Given the description of an element on the screen output the (x, y) to click on. 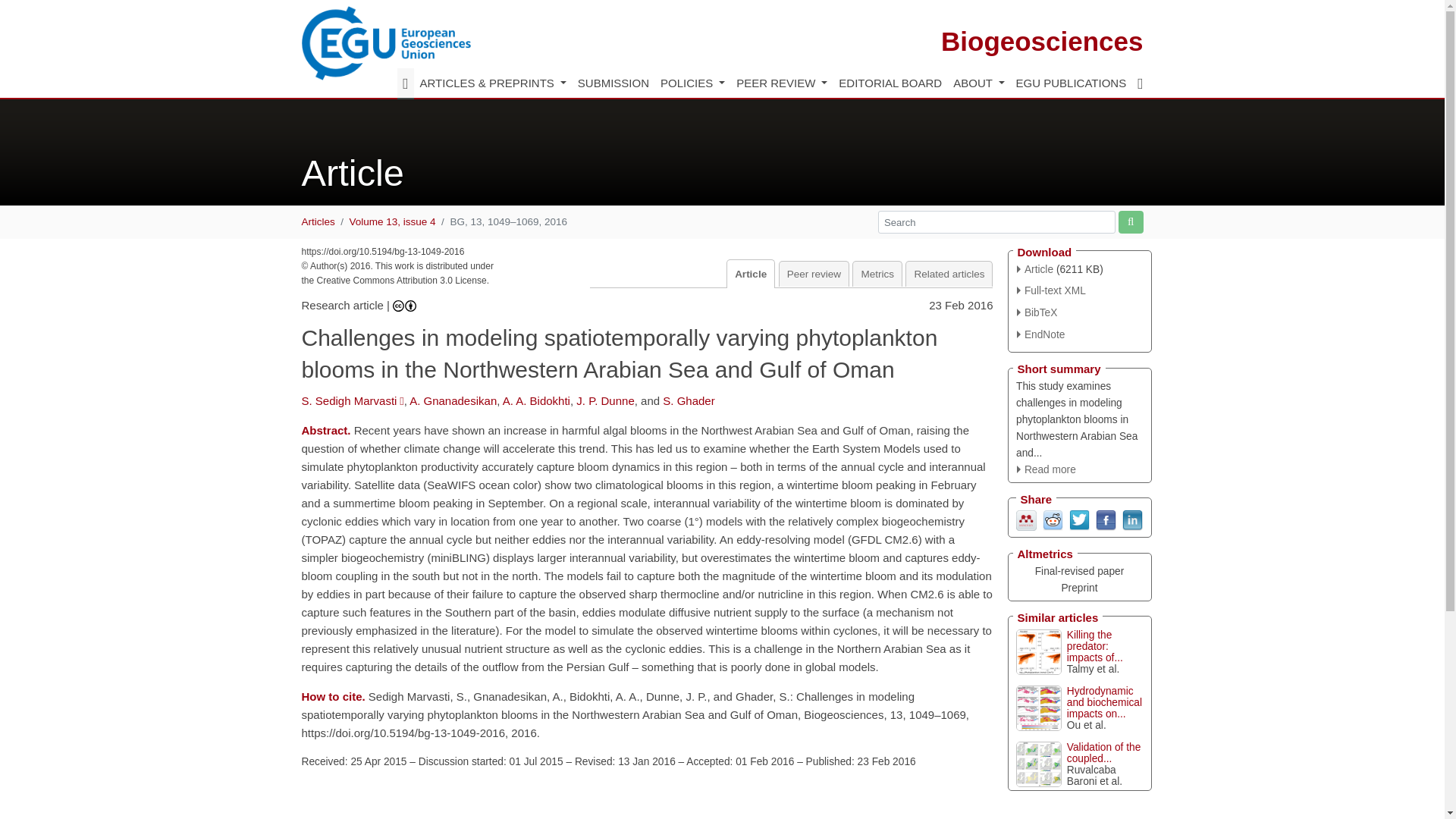
Mendeley (1026, 519)
Biogeosciences (1041, 41)
XML Version (1051, 290)
SUBMISSION (612, 83)
Reddit (1052, 519)
Start site search (1130, 221)
PEER REVIEW (781, 83)
Twitter (1078, 519)
POLICIES (691, 83)
Facebook (1104, 519)
